Given the description of an element on the screen output the (x, y) to click on. 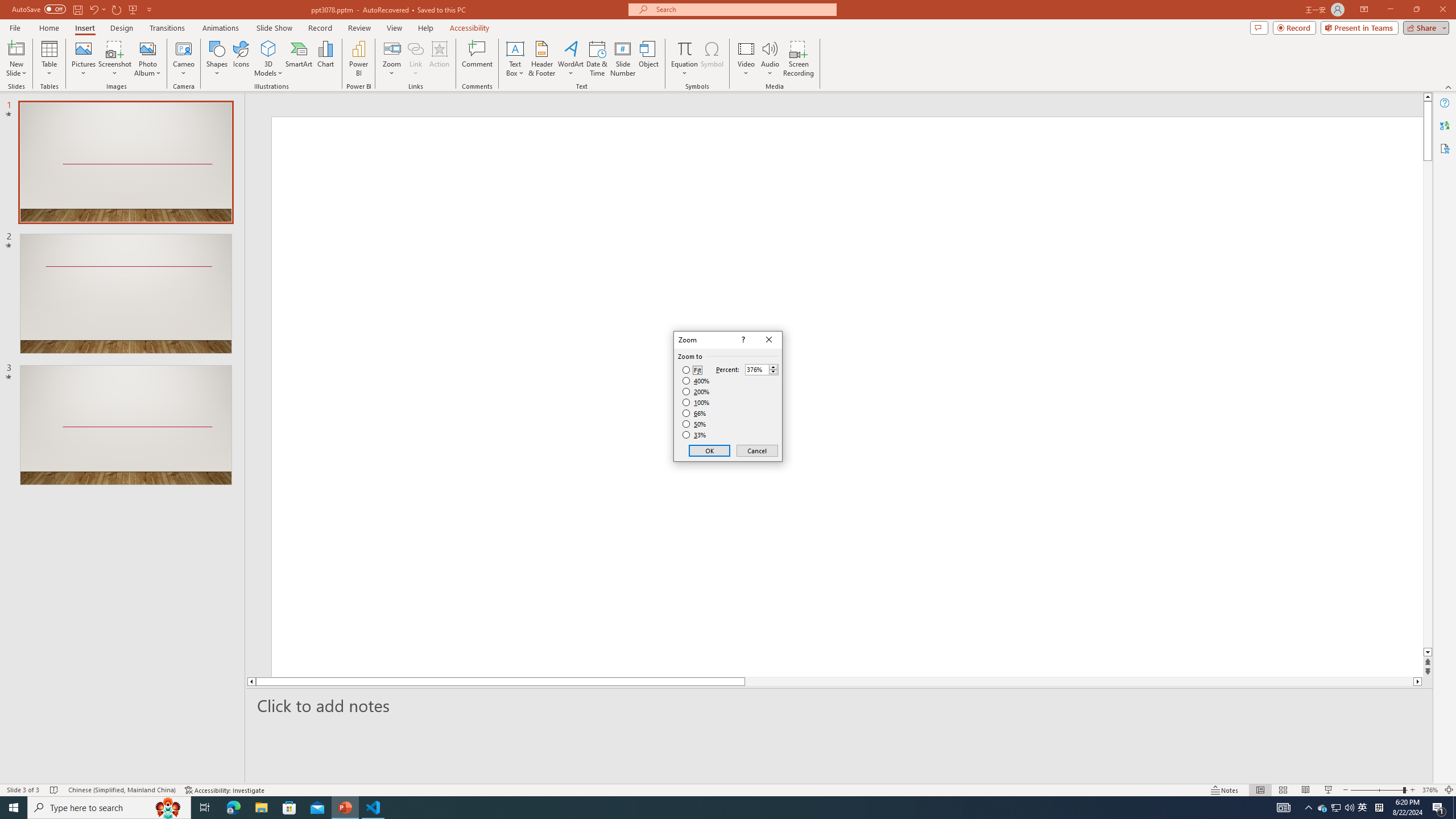
New Photo Album... (147, 48)
Fit (691, 370)
AutomationID: 4105 (1283, 807)
Video (745, 58)
Less (772, 372)
Draw Horizontal Text Box (515, 48)
Header & Footer... (541, 58)
3D Models (268, 48)
Running applications (700, 807)
Object... (649, 58)
Screenshot (114, 58)
Percent (761, 369)
Line up (1427, 96)
